Given the description of an element on the screen output the (x, y) to click on. 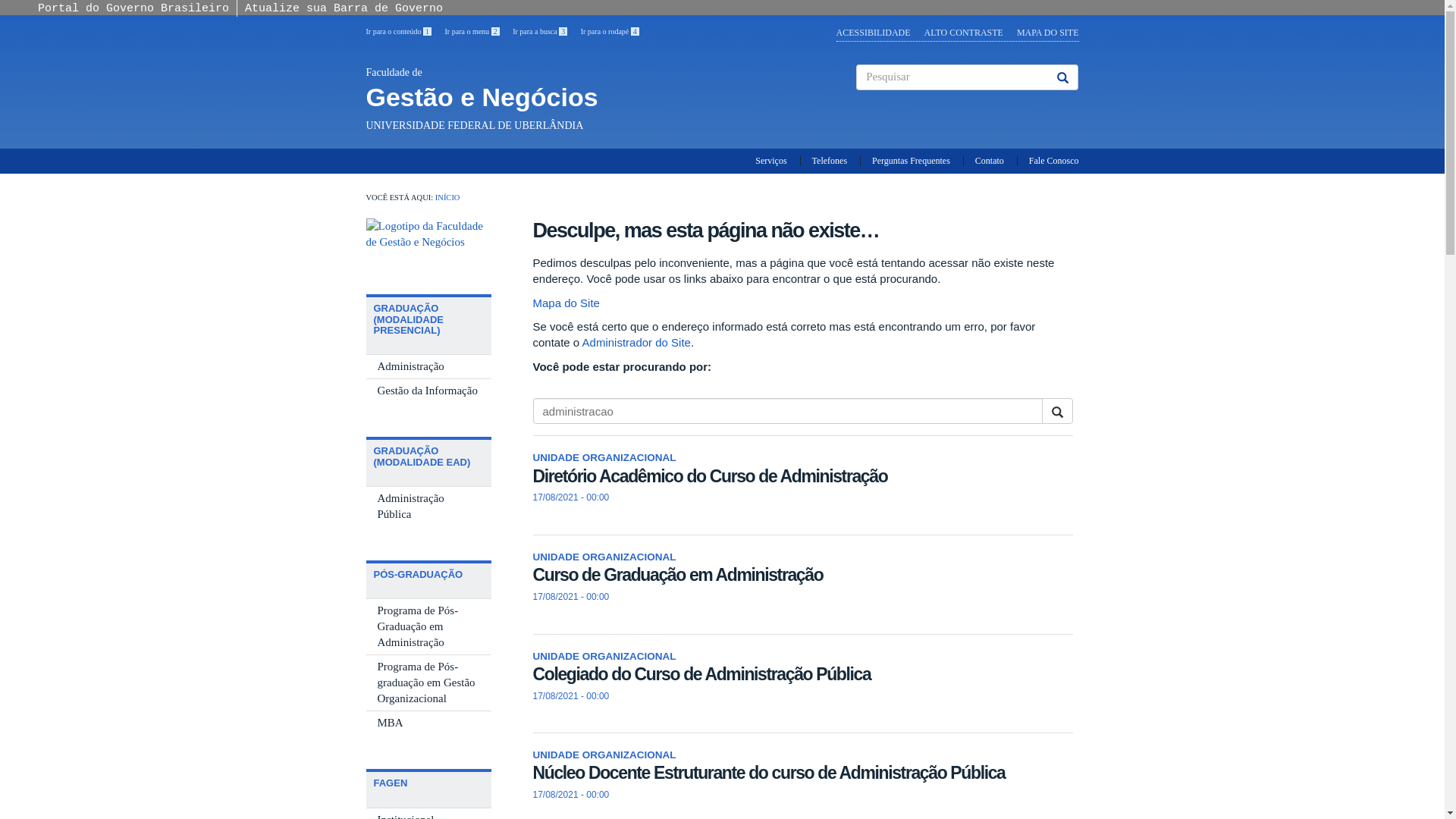
Mapa do Site Element type: text (565, 302)
Atualize sua Barra de Governo Element type: text (343, 8)
ALTO CONTRASTE Element type: text (963, 32)
Administrador do Site Element type: text (636, 341)
Ir para a busca 3 Element type: text (539, 31)
Fale Conosco Element type: text (1054, 160)
Logotipo da FAGEN Element type: hover (427, 248)
Pesquisar Element type: text (532, 436)
Portal do Governo Brasileiro Element type: text (133, 8)
Ir para o menu 2 Element type: text (472, 31)
Contato Element type: text (989, 160)
MBA Element type: text (427, 722)
ACESSIBILIDADE Element type: text (873, 32)
Telefones Element type: text (829, 160)
Pesquisar Element type: text (856, 103)
MAPA DO SITE Element type: text (1047, 32)
Perguntas Frequentes Element type: text (911, 160)
